Given the description of an element on the screen output the (x, y) to click on. 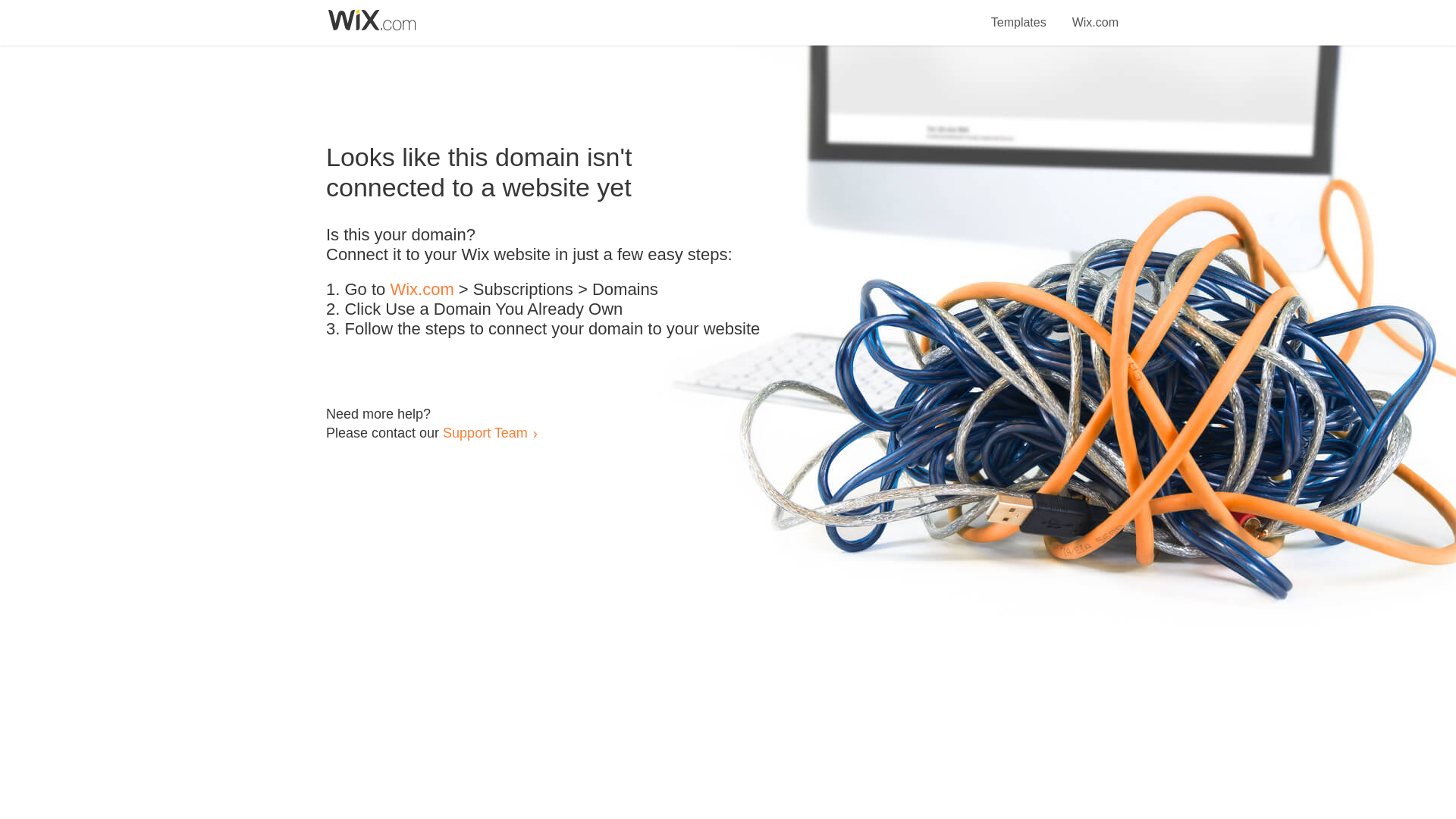
Wix.com (421, 289)
Wix.com (1095, 14)
Templates (1018, 14)
Support Team (484, 432)
